Given the description of an element on the screen output the (x, y) to click on. 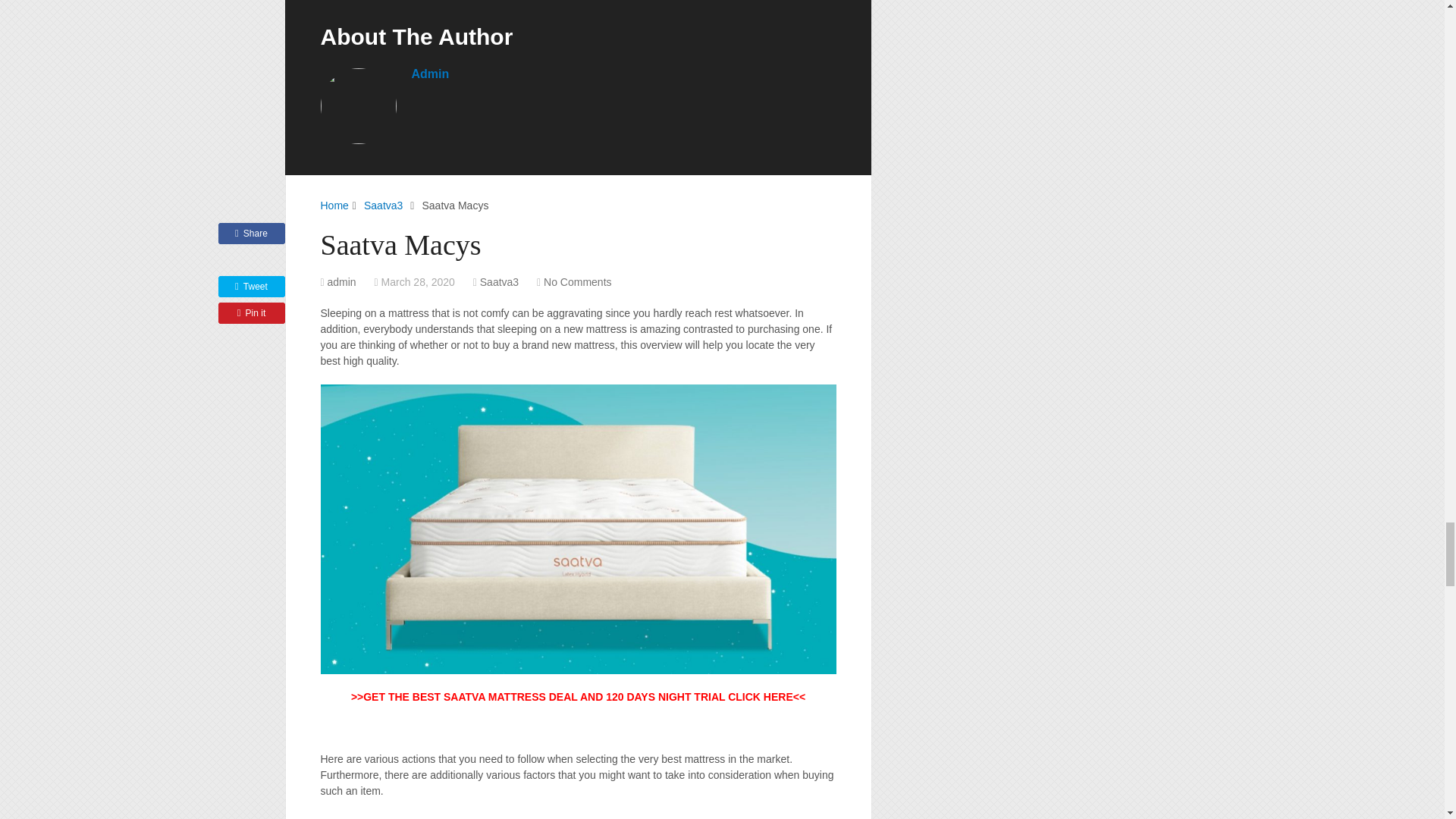
Saatva3 (383, 205)
Saatva3 (499, 282)
admin (341, 282)
Home (333, 205)
Posts by admin (341, 282)
Admin (429, 73)
View all posts in Saatva3 (499, 282)
